Given the description of an element on the screen output the (x, y) to click on. 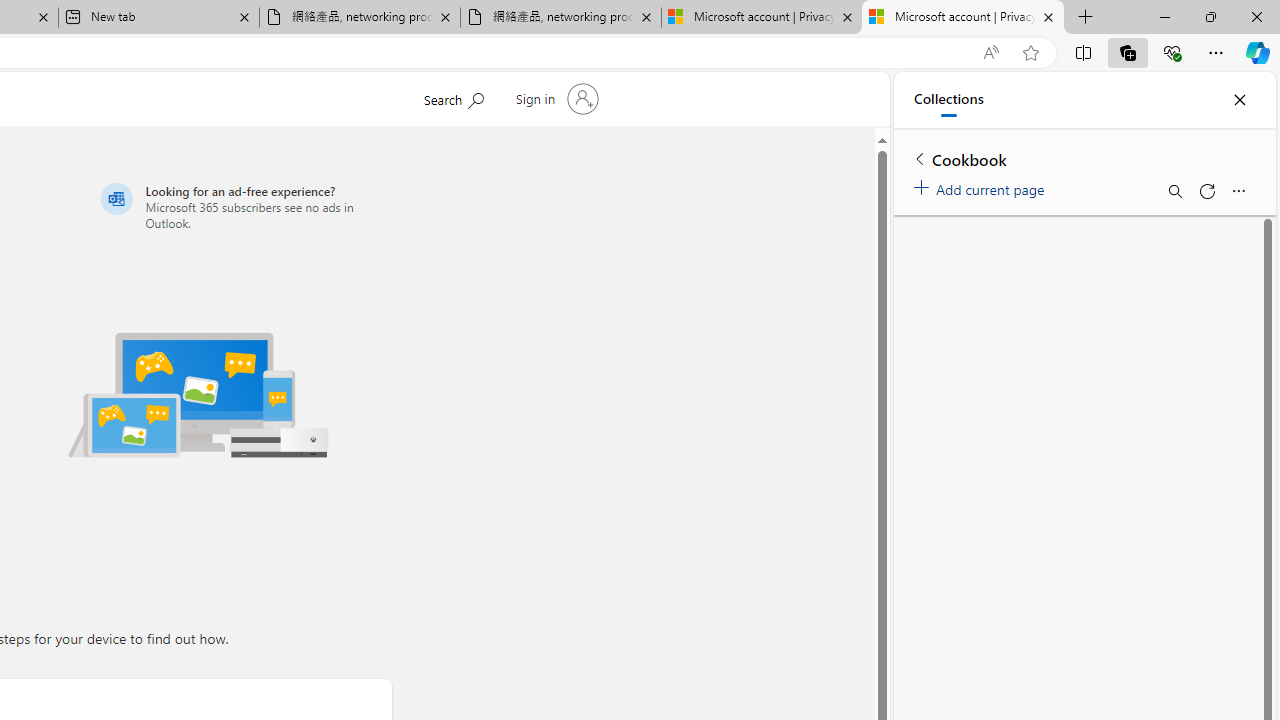
Illustration of multiple devices (198, 394)
Search Microsoft.com (452, 97)
